Given the description of an element on the screen output the (x, y) to click on. 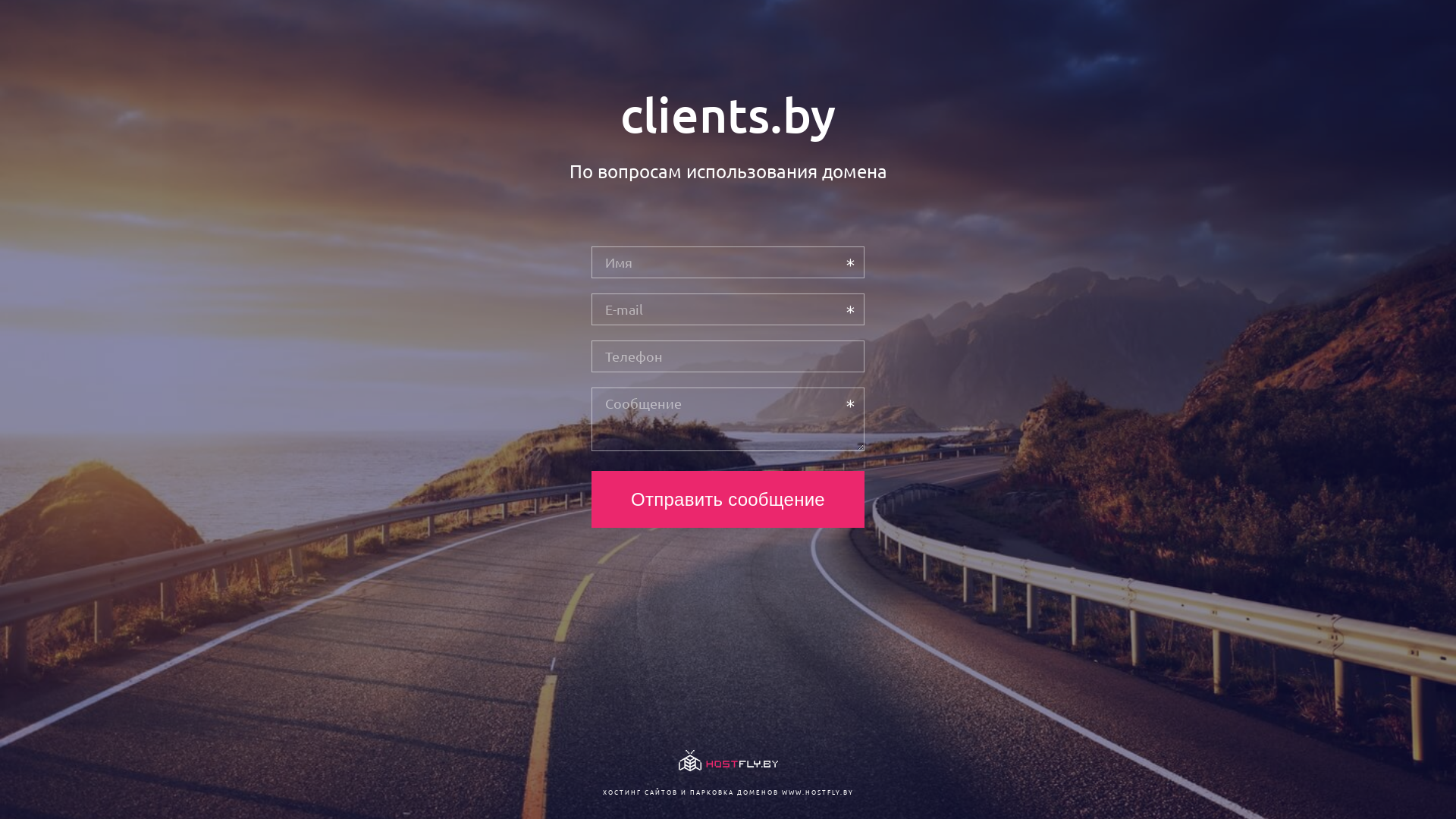
WWW.HOSTFLY.BY Element type: text (817, 791)
